Given the description of an element on the screen output the (x, y) to click on. 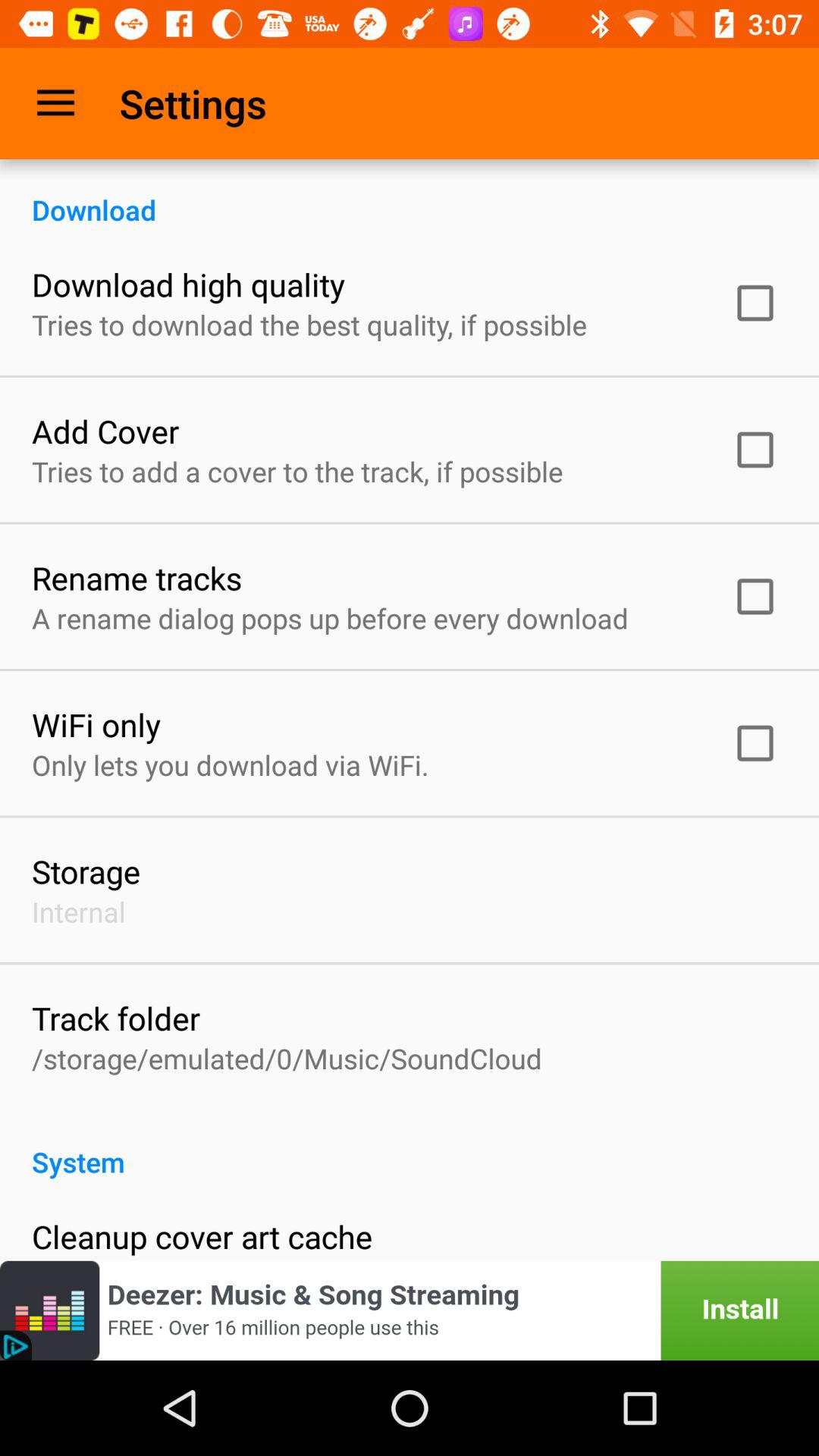
select app next to settings app (55, 103)
